Given the description of an element on the screen output the (x, y) to click on. 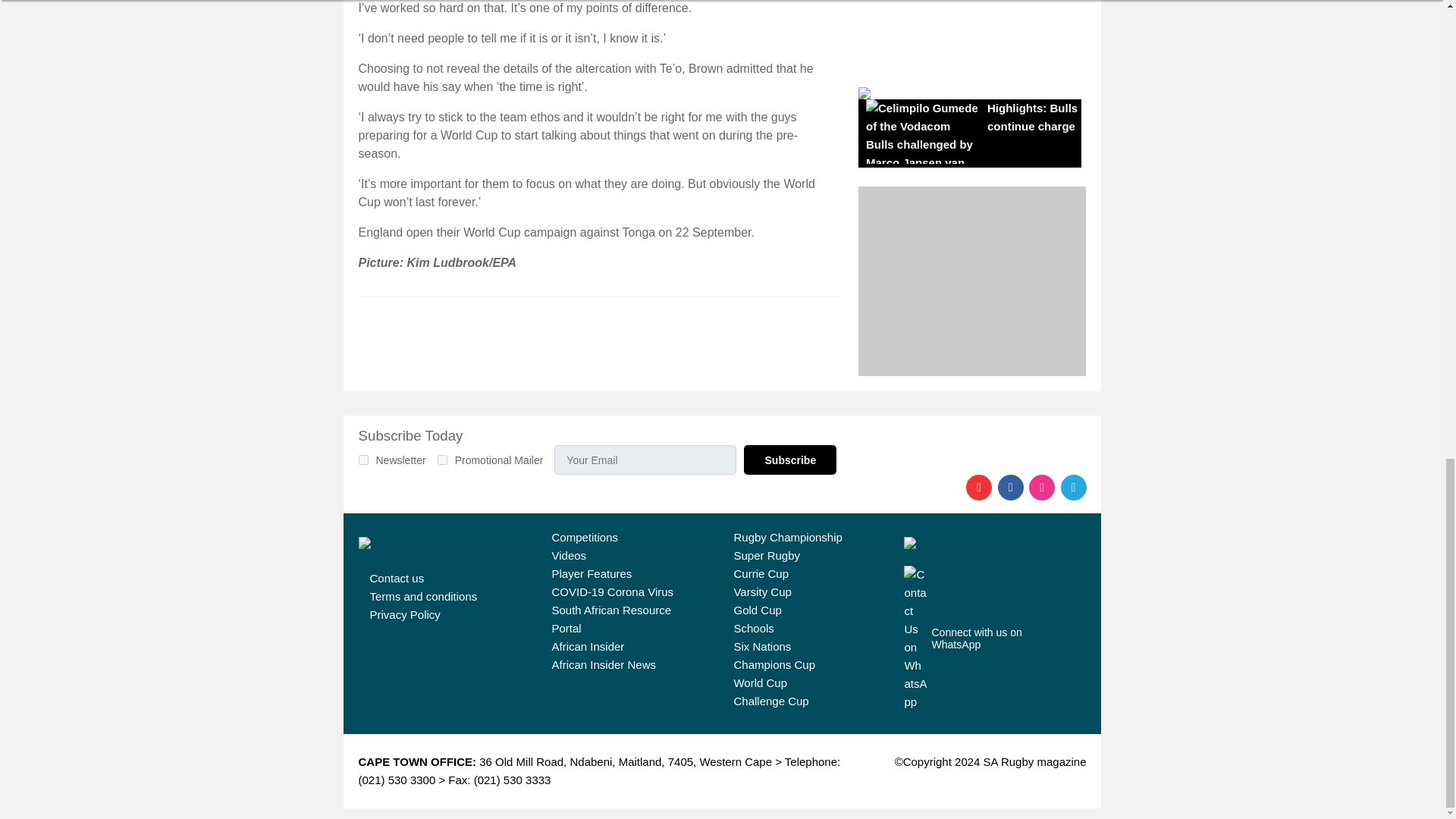
18751 (363, 460)
19011 (442, 460)
Subscribe (789, 460)
